Given the description of an element on the screen output the (x, y) to click on. 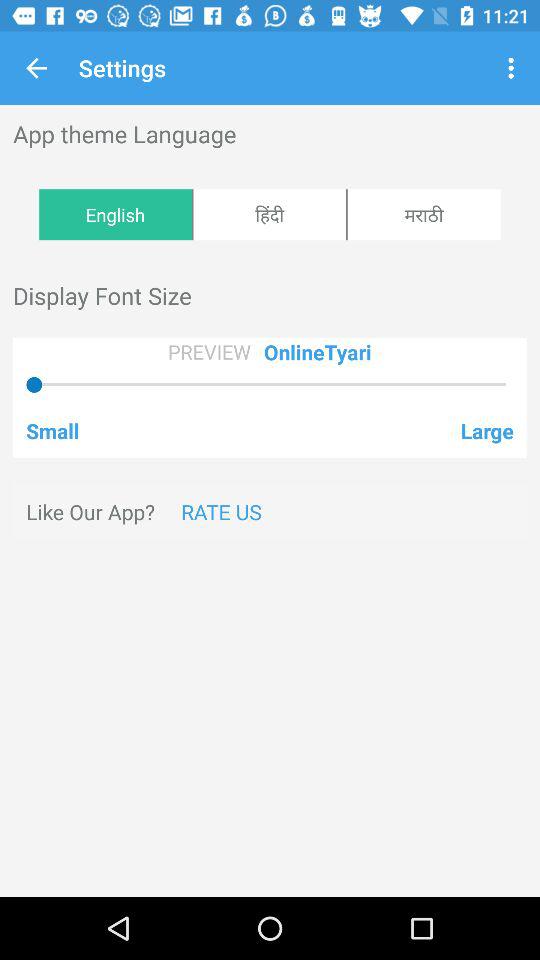
choose icon next to like our app? icon (221, 511)
